Given the description of an element on the screen output the (x, y) to click on. 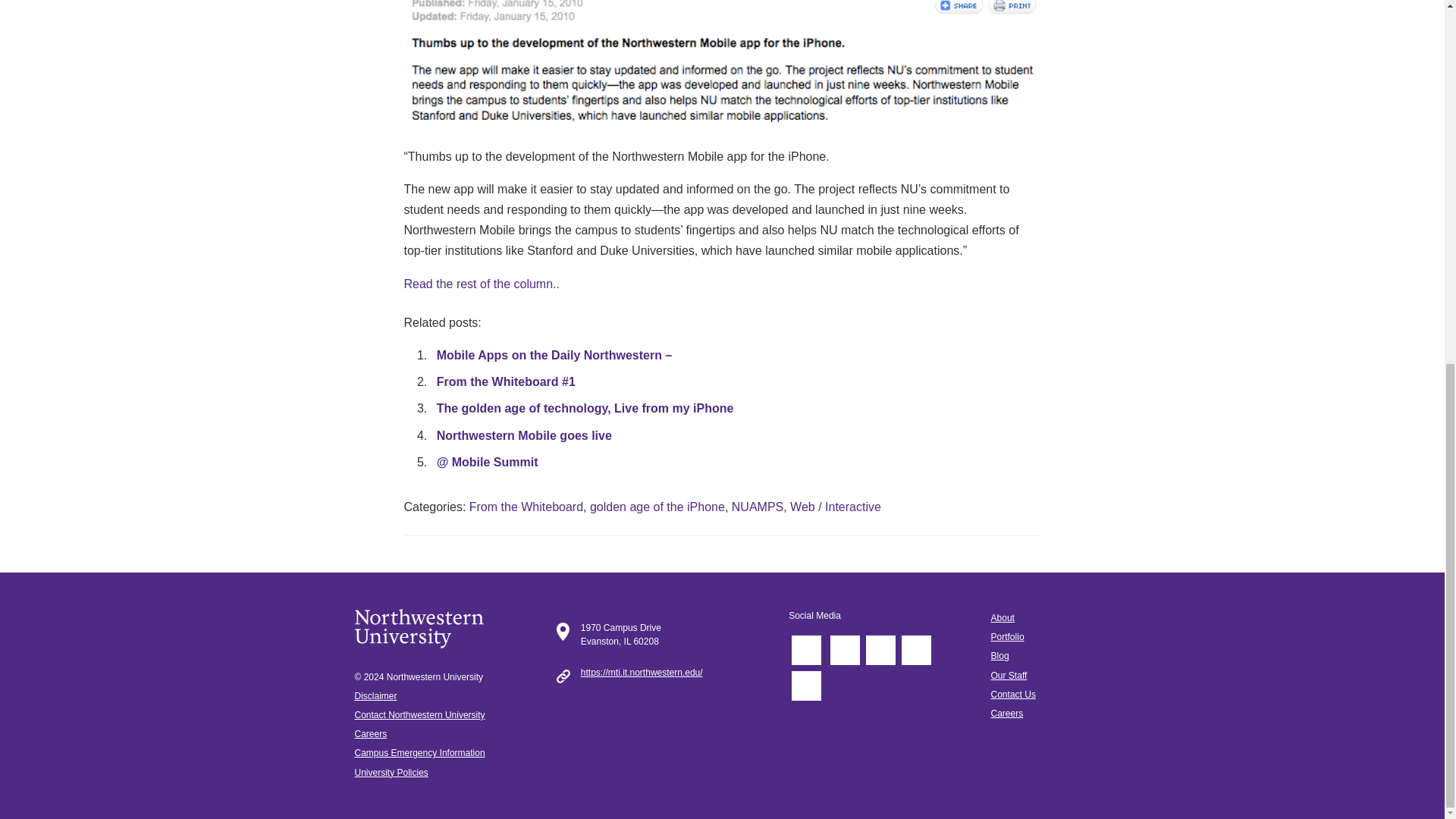
Read the rest of the column.. (481, 283)
The golden age of technology, Live from my iPhone (584, 408)
From the Whiteboard (525, 506)
Picture 72 (722, 67)
golden age of the iPhone (657, 506)
The golden age of technology, Live from my iPhone (584, 408)
NUAMPS (757, 506)
Northwestern Mobile goes live (523, 435)
Northwestern Mobile goes live (523, 435)
